Given the description of an element on the screen output the (x, y) to click on. 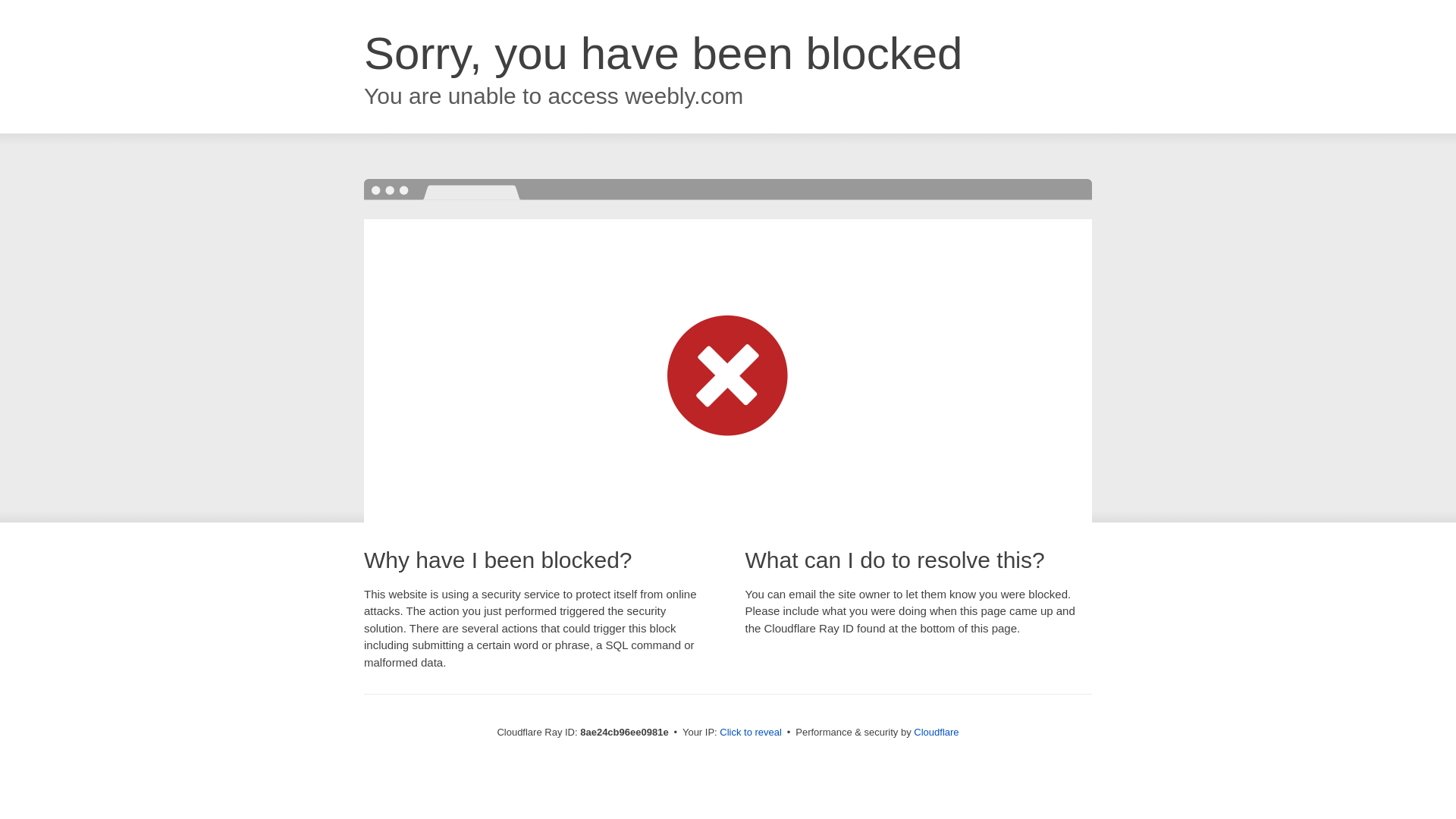
Cloudflare (936, 731)
Click to reveal (750, 732)
